Given the description of an element on the screen output the (x, y) to click on. 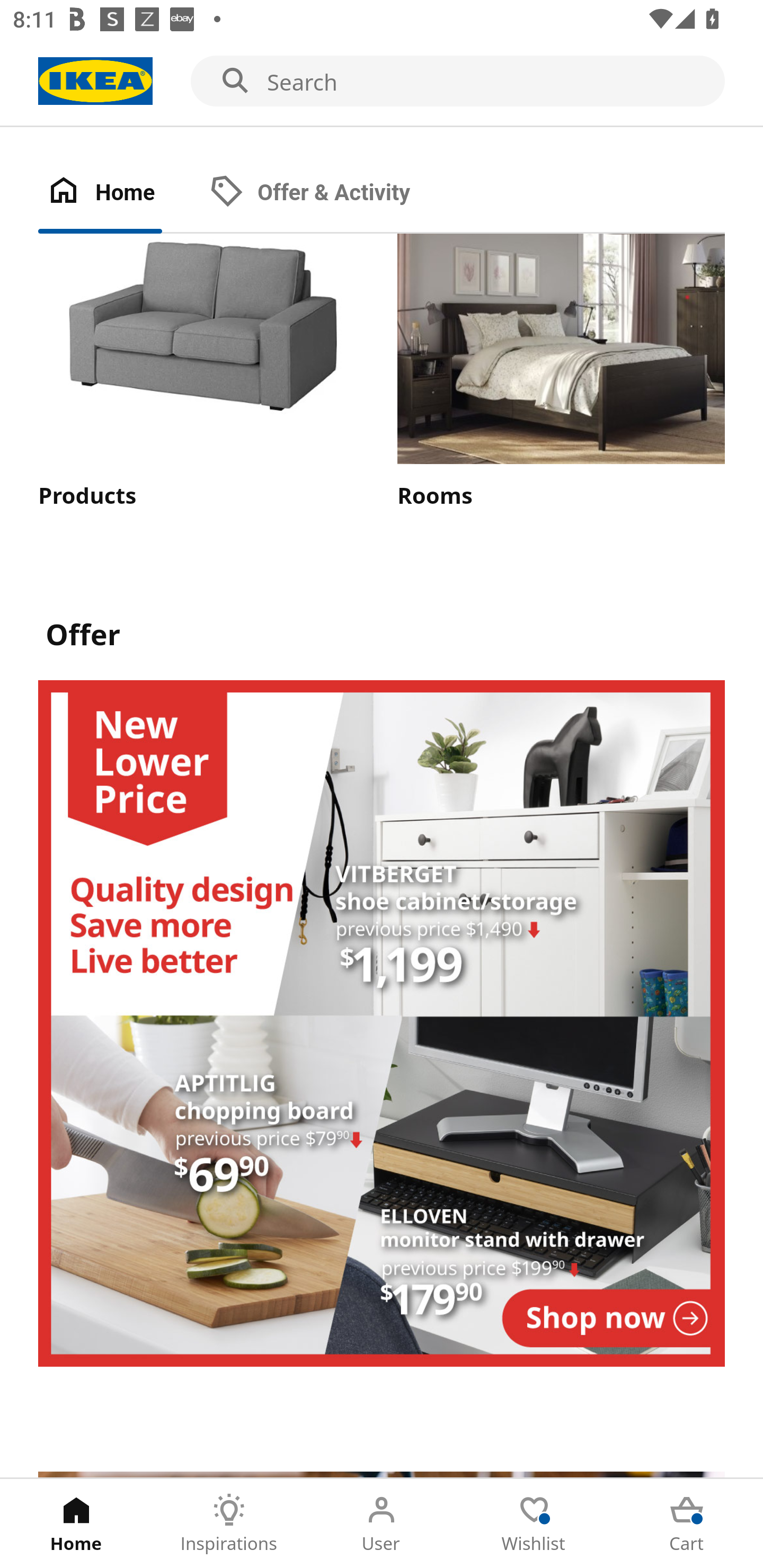
Search (381, 81)
Home
Tab 1 of 2 (118, 192)
Offer & Activity
Tab 2 of 2 (327, 192)
Products (201, 372)
Rooms (560, 372)
Home
Tab 1 of 5 (76, 1522)
Inspirations
Tab 2 of 5 (228, 1522)
User
Tab 3 of 5 (381, 1522)
Wishlist
Tab 4 of 5 (533, 1522)
Cart
Tab 5 of 5 (686, 1522)
